Given the description of an element on the screen output the (x, y) to click on. 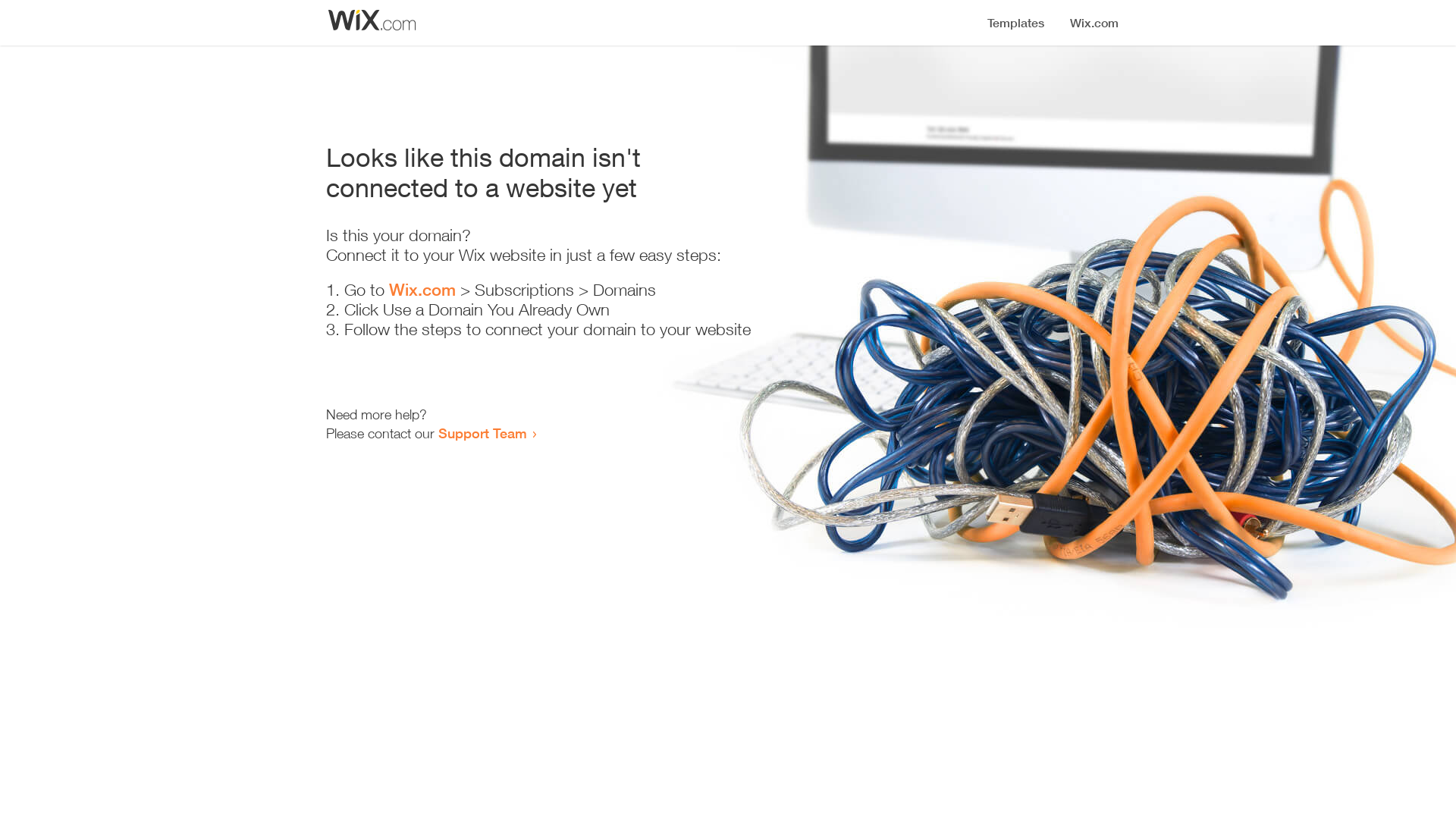
Support Team Element type: text (482, 432)
Wix.com Element type: text (422, 289)
